Given the description of an element on the screen output the (x, y) to click on. 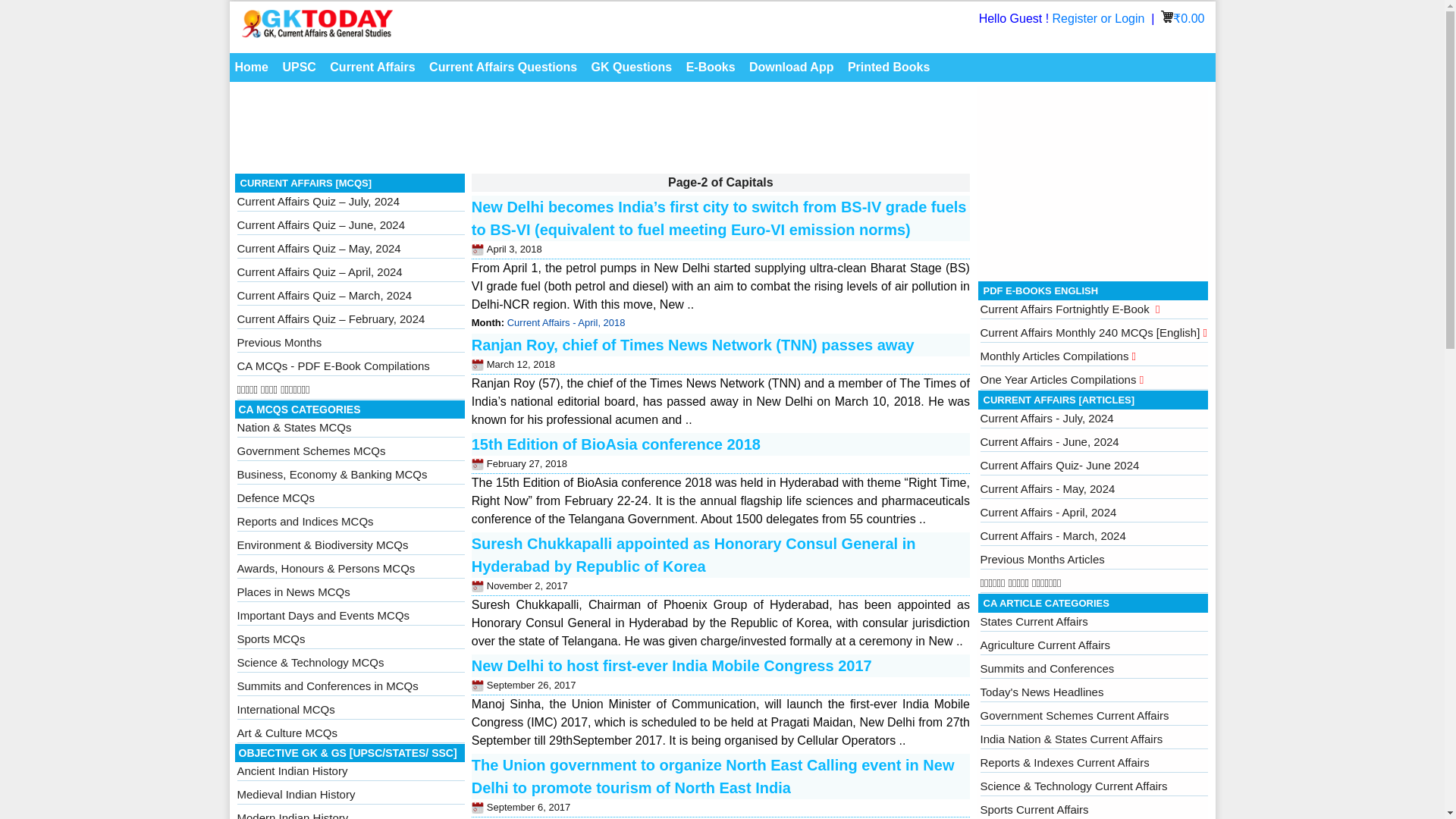
E-Books (711, 67)
Advertisement (1093, 181)
CA MCQs - PDF E-Book Compilations (332, 365)
15th Edition of BioAsia conference 2018 (615, 443)
Home (250, 67)
Reports and Indices MCQs (303, 521)
Register or Login (1100, 18)
Defence MCQs (274, 497)
UPSC (298, 67)
Previous Months (278, 341)
Download App (791, 67)
Government Schemes MCQs (310, 450)
Places in News MCQs (292, 591)
